Given the description of an element on the screen output the (x, y) to click on. 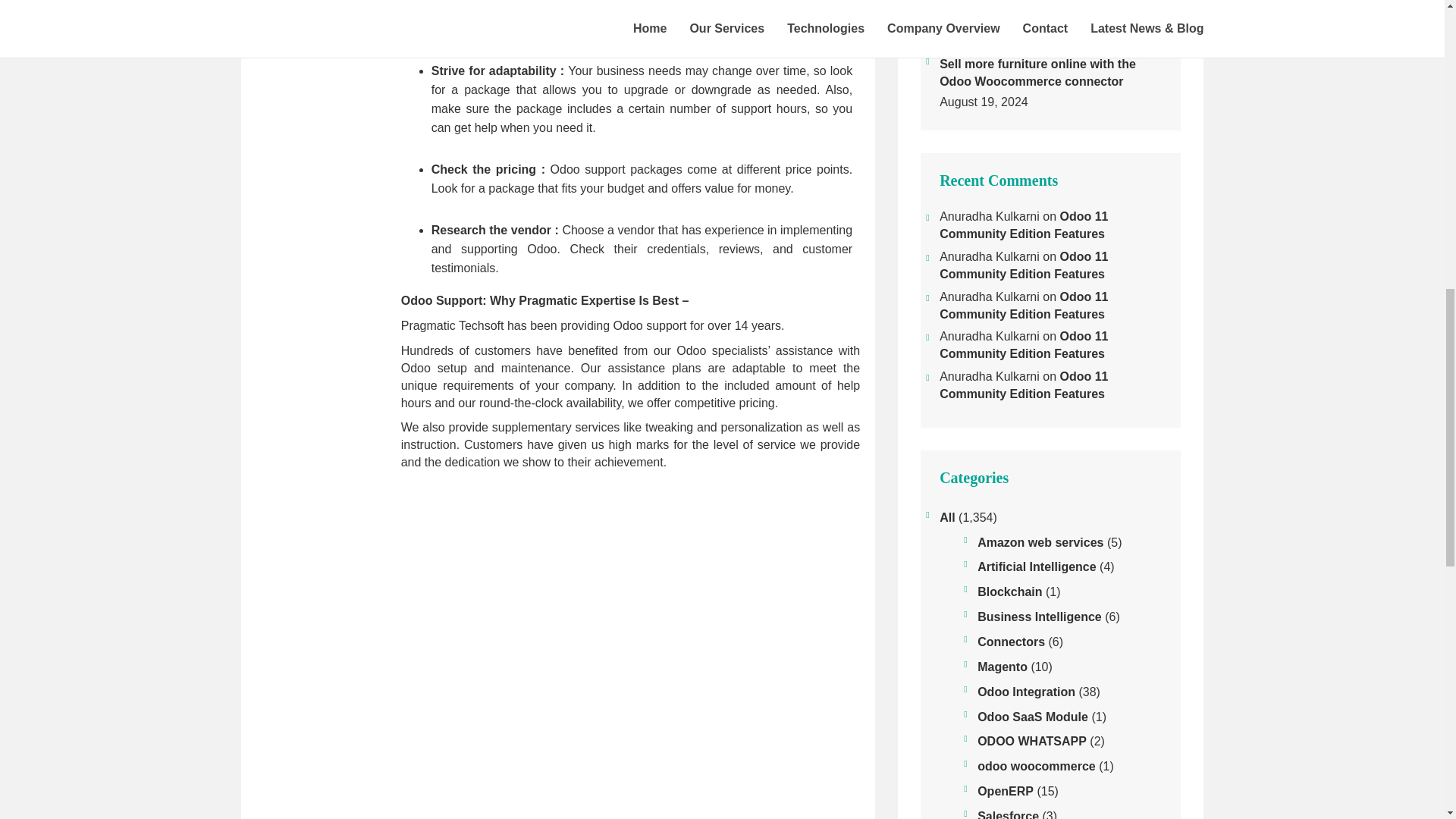
Odoo SaaS Module (1031, 716)
Magento (1001, 667)
Blockchain (1009, 592)
Odoo 11 Community Edition Features (1023, 305)
Business Intelligence (1039, 617)
Odoo 11 Community Edition Features (1023, 385)
ODOO WHATSAPP (1031, 742)
Odoo 11 Community Edition Features (1023, 224)
